Given the description of an element on the screen output the (x, y) to click on. 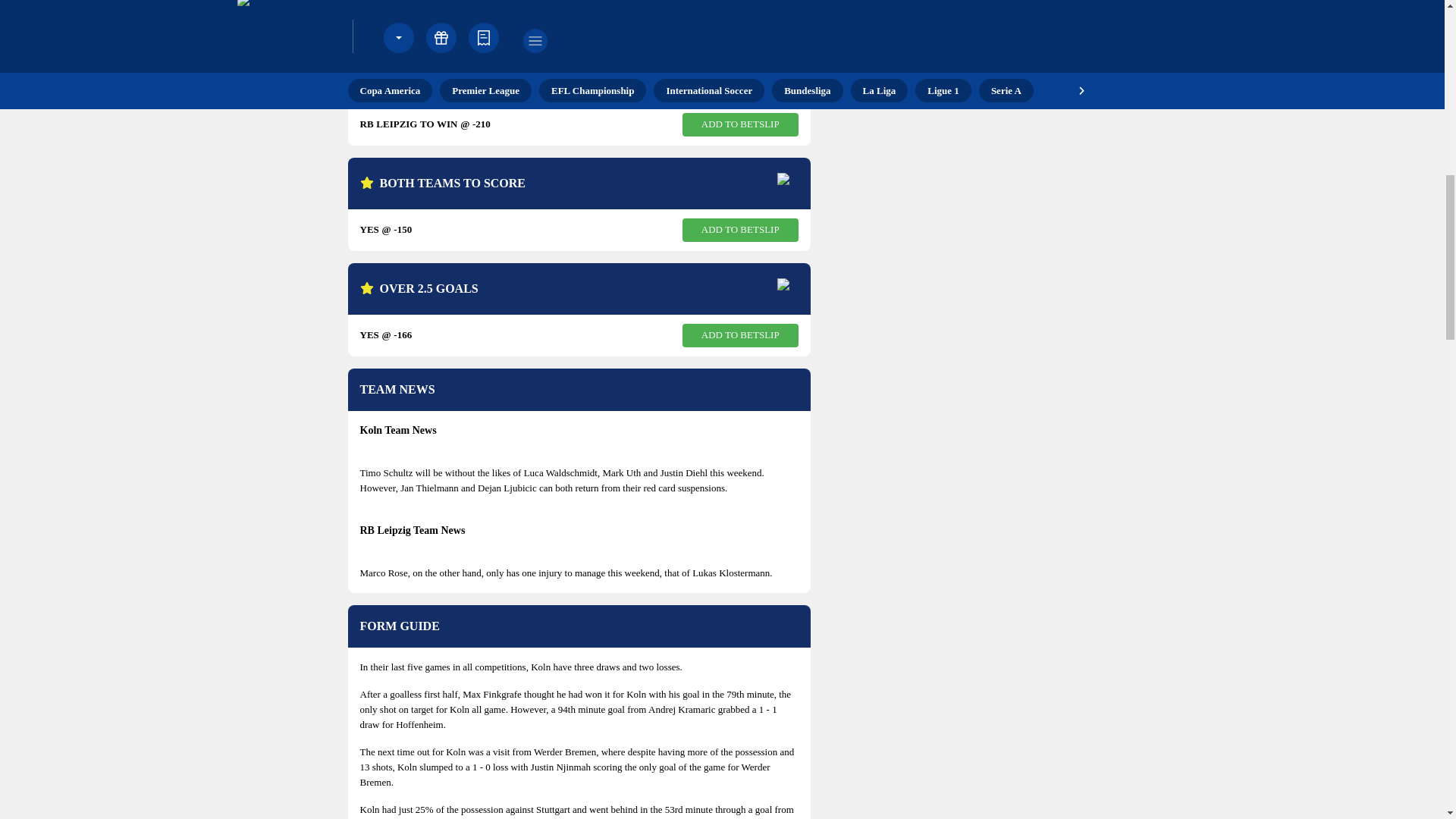
ADD TO BETSLIP (739, 229)
ADD TO BETSLIP (739, 124)
YouTube Logo (927, 4)
ADD TO BETSLIP (739, 335)
